Given the description of an element on the screen output the (x, y) to click on. 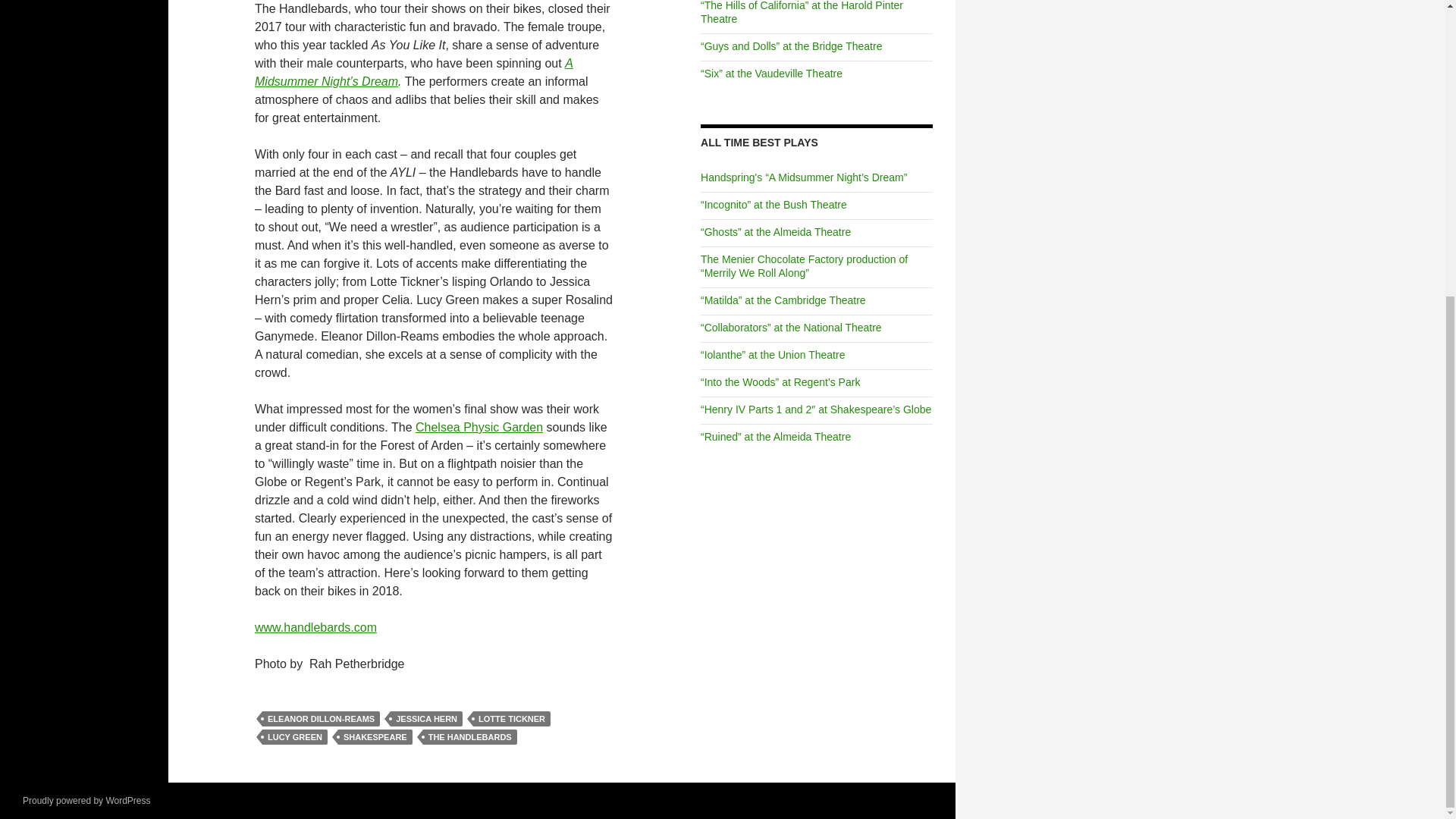
ELEANOR DILLON-REAMS (321, 718)
LUCY GREEN (294, 736)
LOTTE TICKNER (511, 718)
SHAKESPEARE (374, 736)
THE HANDLEBARDS (469, 736)
JESSICA HERN (426, 718)
Proudly powered by WordPress (87, 800)
Chelsea Physic Garden (478, 427)
www.handlebards.com (315, 626)
